Given the description of an element on the screen output the (x, y) to click on. 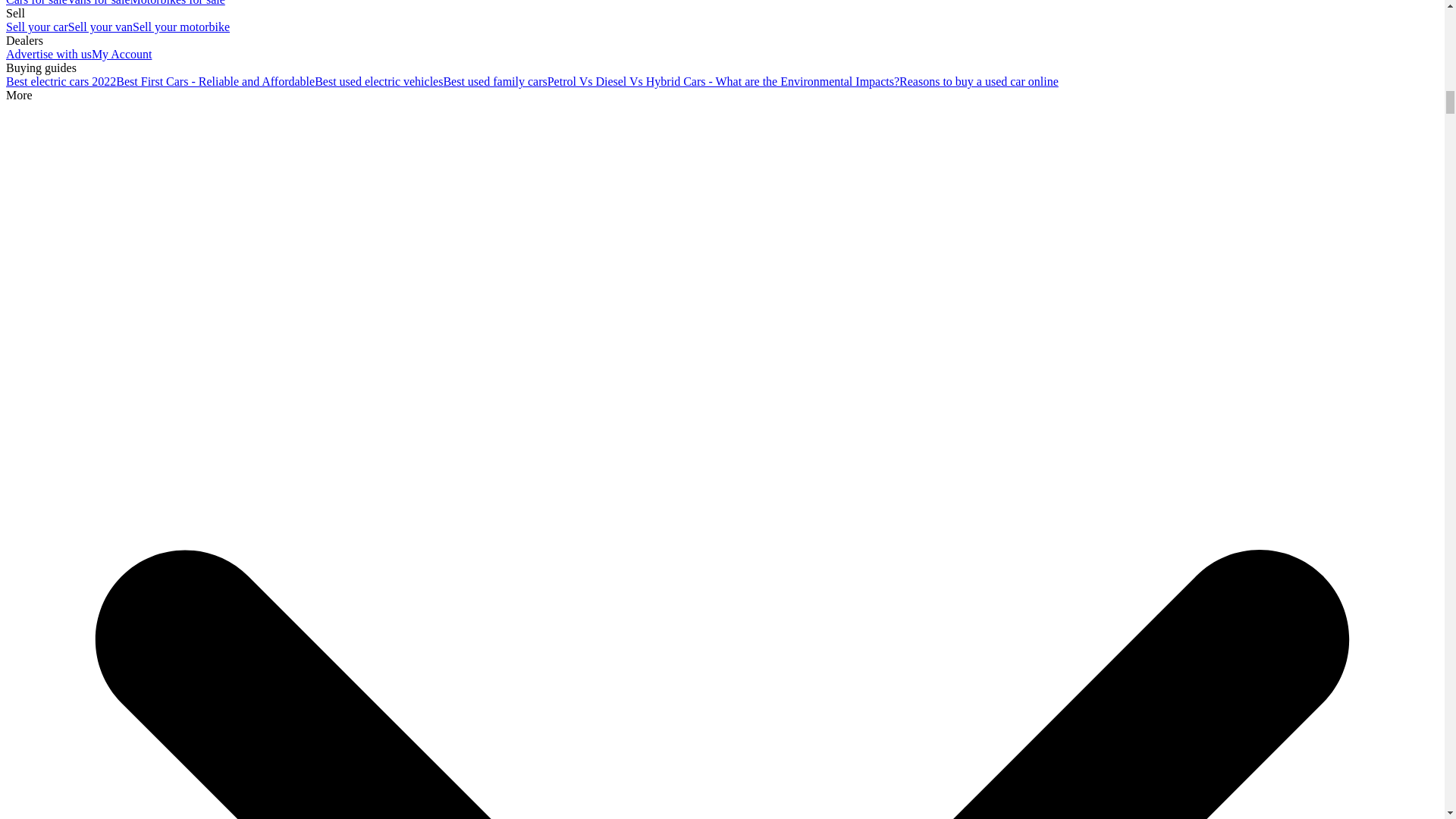
Sell your van (100, 26)
Reasons to buy a used car online (978, 81)
Sell your motorbike (181, 26)
Cars for sale (35, 2)
Best electric cars 2022  (60, 81)
Vans for sale (98, 2)
Vans for sale (98, 2)
Sell your van (100, 26)
Cars for sale (35, 2)
Motorbikes for sale (178, 2)
Sell your car (36, 26)
Best First Cars - Reliable and Affordable (215, 81)
Reasons to buy a used car online (978, 81)
